Given the description of an element on the screen output the (x, y) to click on. 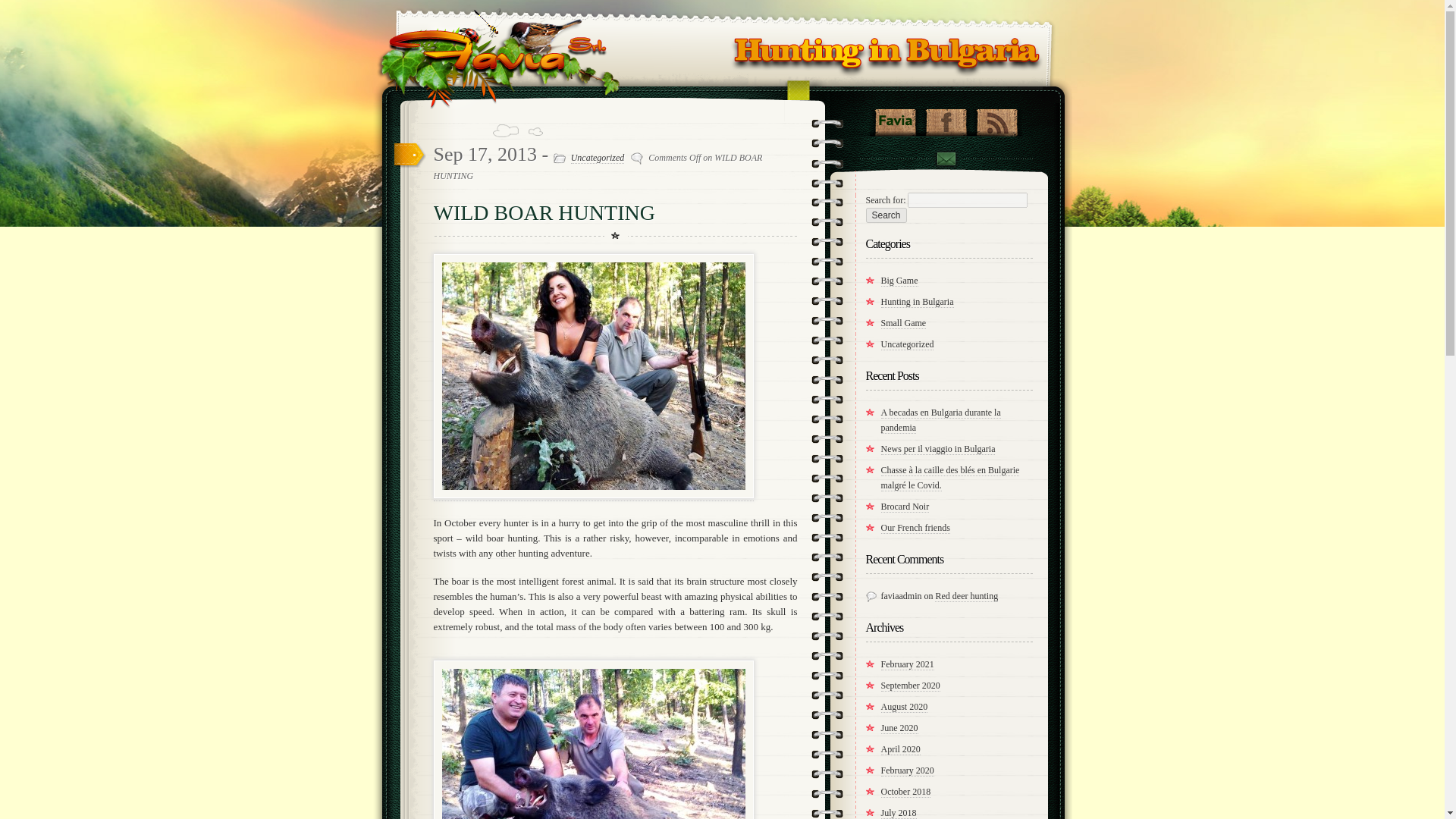
Our French friends (915, 527)
Uncategorized (597, 157)
February 2021 (907, 664)
Red deer hunting (965, 595)
Visit our website! (894, 118)
June 2020 (899, 727)
April 2020 (900, 749)
"Join Us on Facebook! (945, 118)
Search (886, 215)
Visit our website! (894, 118)
